Given the description of an element on the screen output the (x, y) to click on. 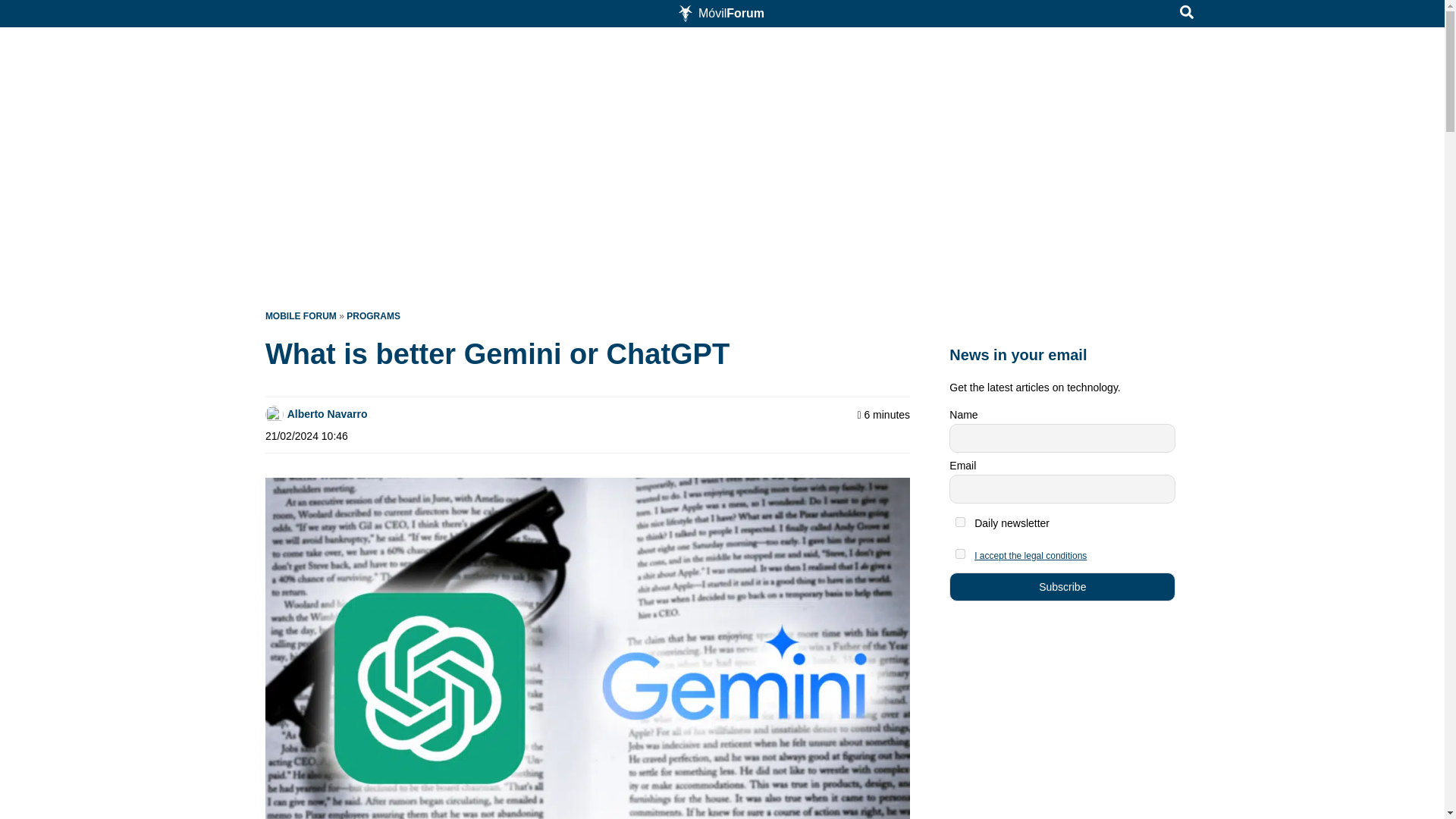
I accept the legal conditions (1030, 555)
Subscribe (1061, 586)
PROGRAMS (373, 316)
Subscribe (1061, 586)
1 (960, 521)
on (960, 553)
Alberto Navarro (327, 414)
MOBILE FORUM (300, 316)
